Given the description of an element on the screen output the (x, y) to click on. 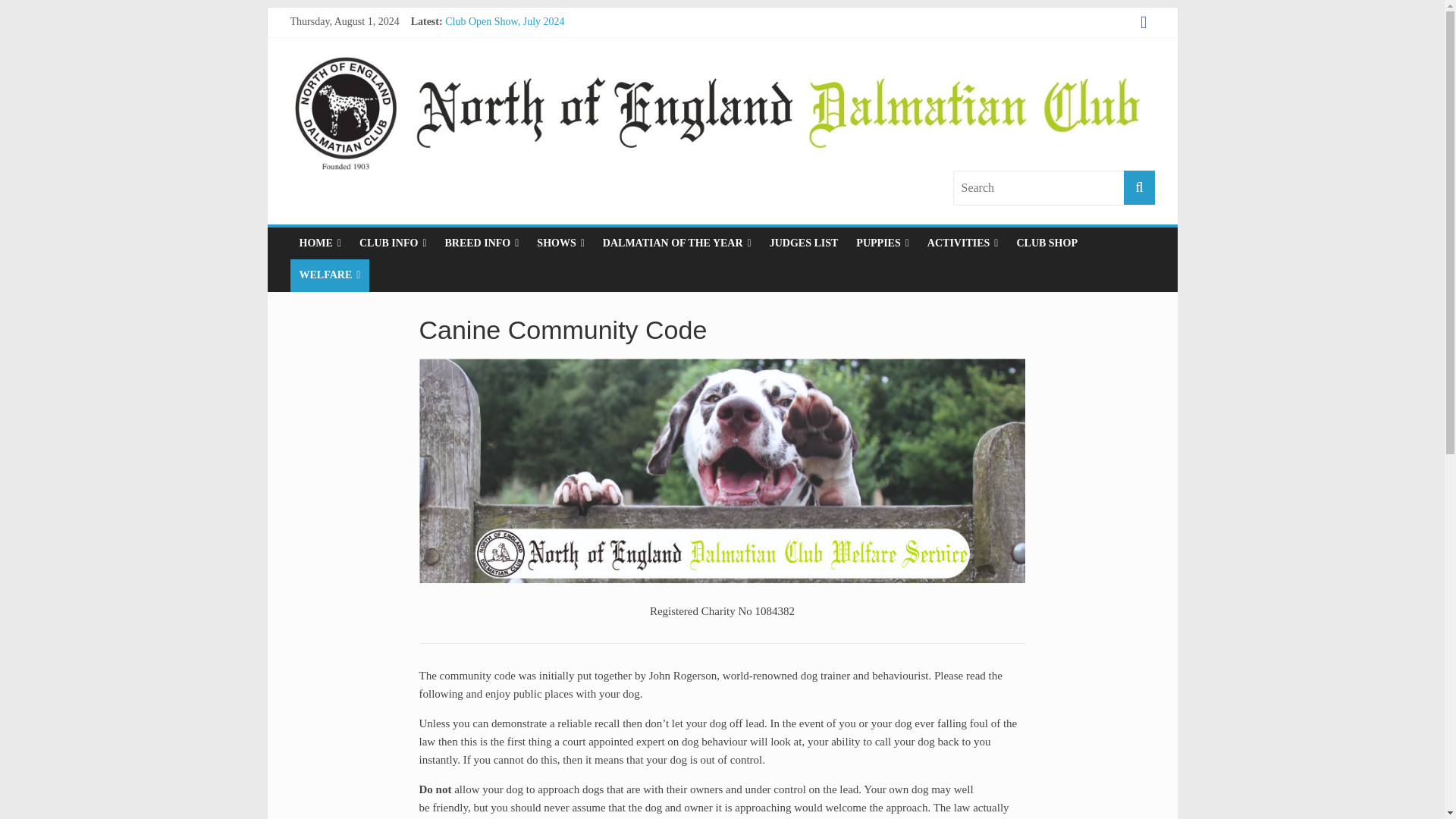
New Baby Puppy Classes Added (515, 71)
Notice from the Club Secretary  (512, 89)
Club Open Show, July 2024 (504, 21)
BREED INFO (481, 243)
CLUB INFO (392, 243)
HOME (319, 243)
SHOWS (559, 243)
Notice of AGM (478, 38)
Notice of AGM (478, 38)
DALMATIAN OF THE YEAR (677, 243)
New Baby Puppy Classes Added (515, 71)
Club Open Show, July 2024 (504, 21)
